Given the description of an element on the screen output the (x, y) to click on. 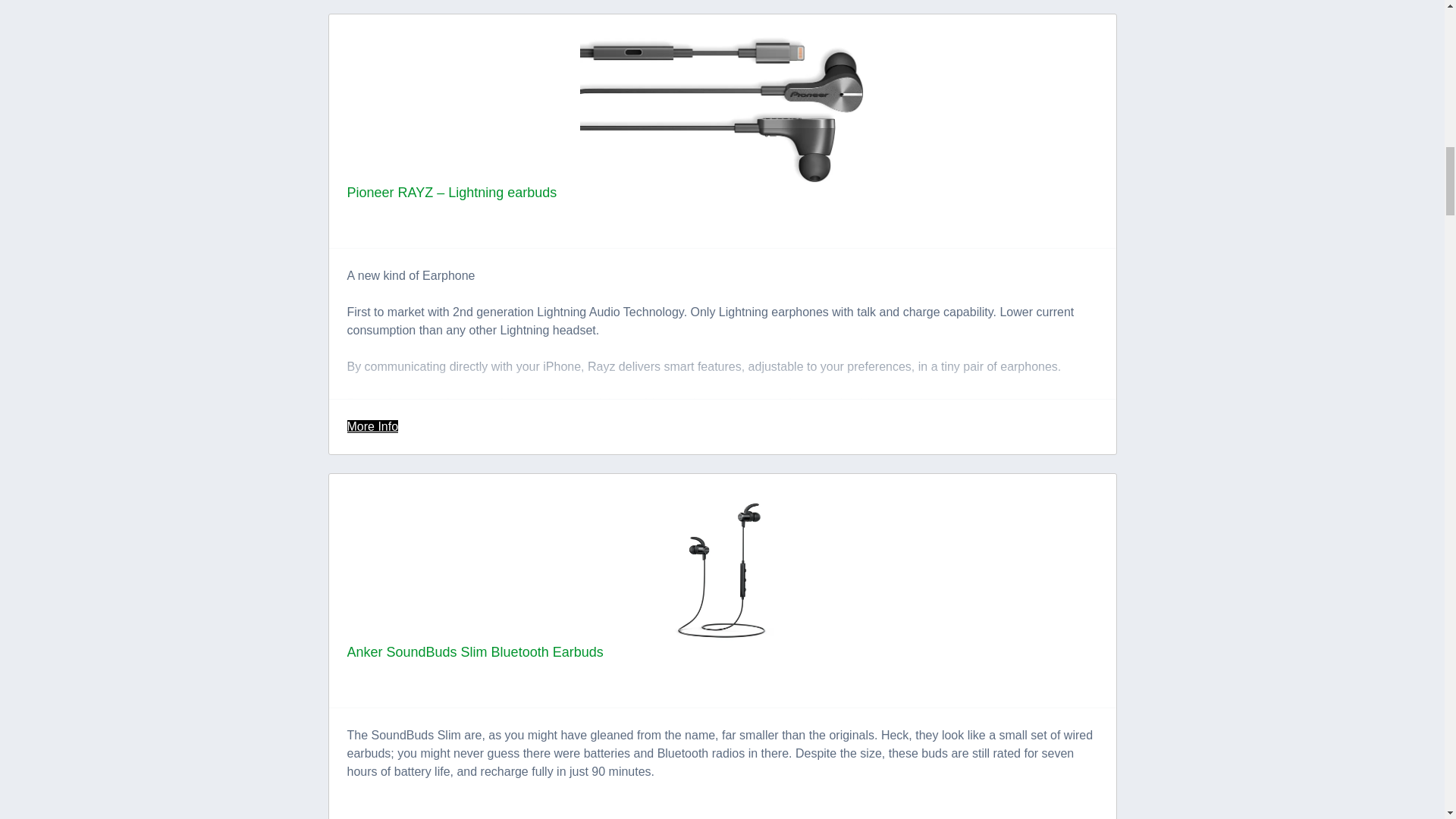
Anker SoundBuds Slim Bluetooth Earbuds (475, 652)
Anker SoundBuds Slim Bluetooth Earbuds (475, 652)
More Info (372, 426)
